Given the description of an element on the screen output the (x, y) to click on. 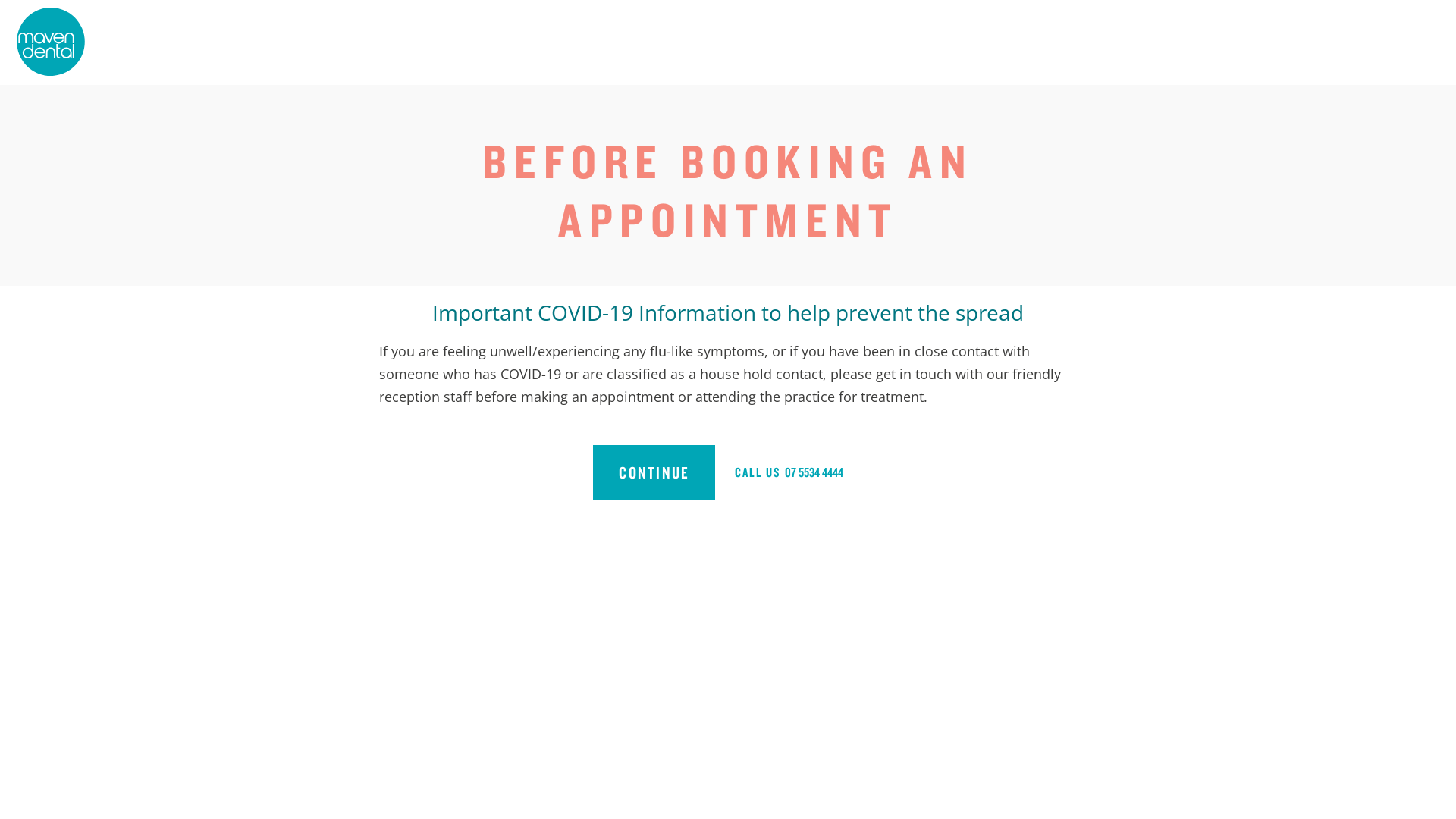
CALL US 07 5534 4444 Element type: text (788, 472)
CONTINUE Element type: text (654, 472)
